Given the description of an element on the screen output the (x, y) to click on. 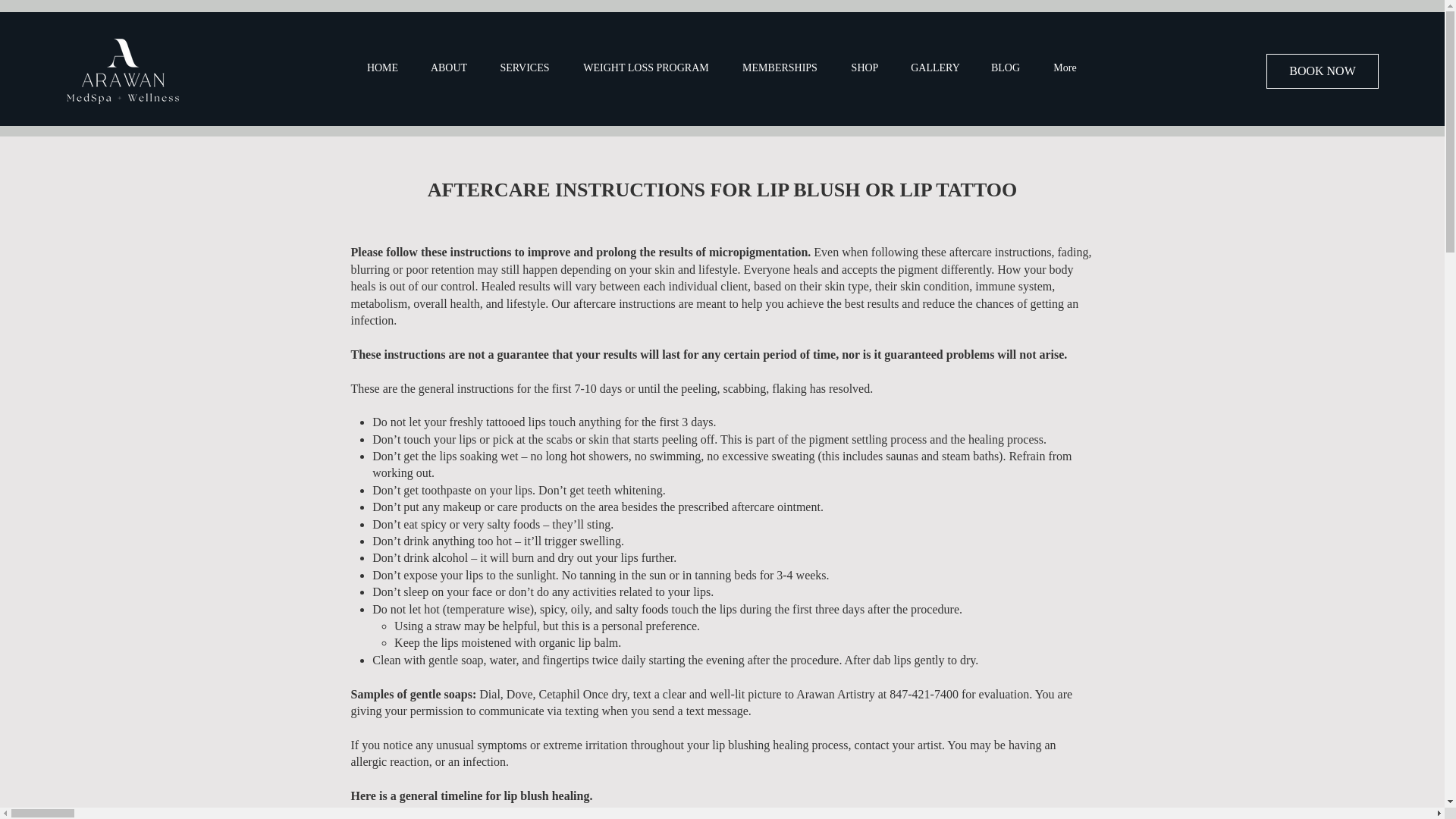
SERVICES (524, 67)
HOME (381, 67)
MEMBERSHIPS (780, 67)
WEIGHT LOSS PROGRAM (645, 67)
BOOK NOW (1322, 71)
ABOUT (448, 67)
GALLERY (935, 67)
BLOG (1005, 67)
